Given the description of an element on the screen output the (x, y) to click on. 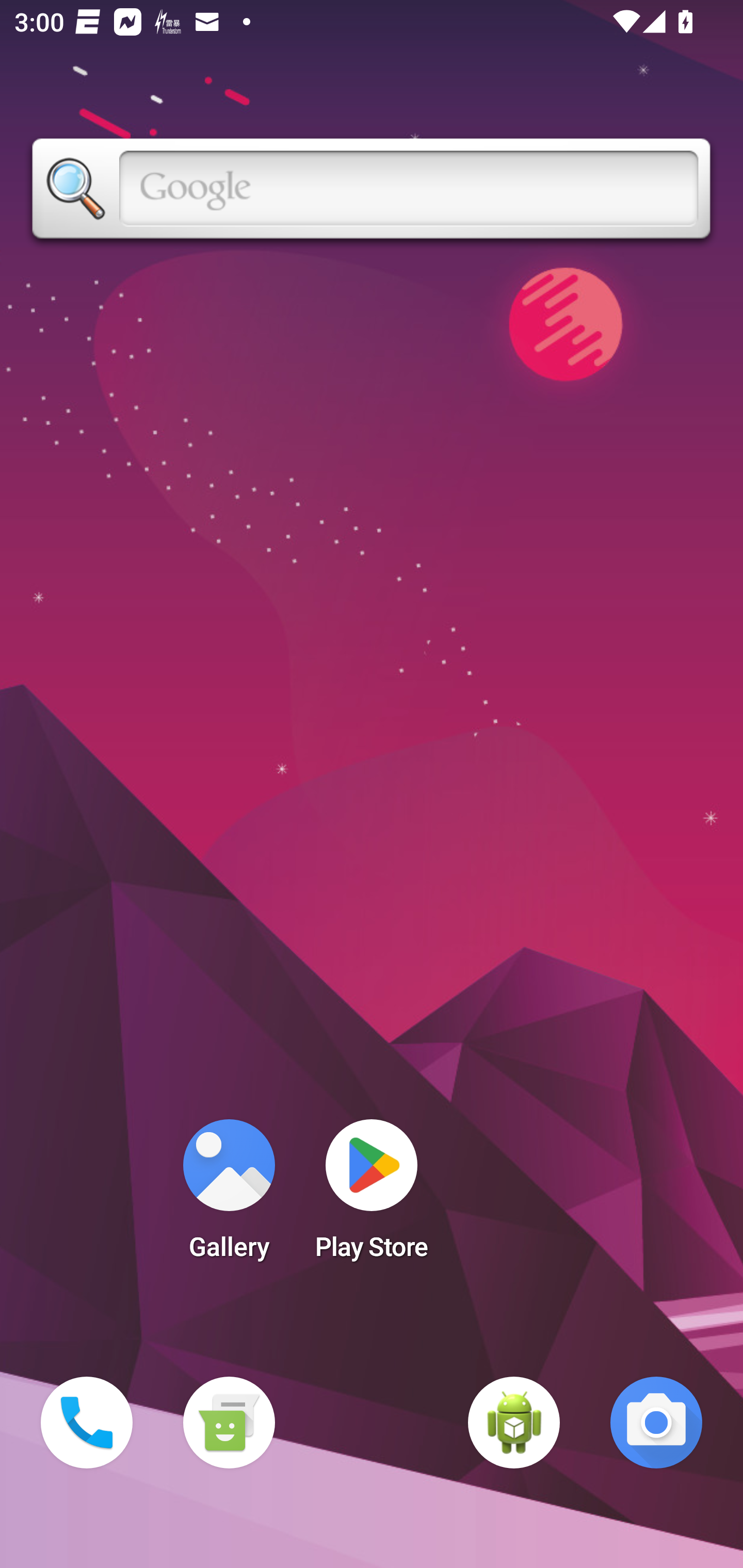
Gallery (228, 1195)
Play Store (371, 1195)
Phone (86, 1422)
Messaging (228, 1422)
WebView Browser Tester (513, 1422)
Camera (656, 1422)
